Given the description of an element on the screen output the (x, y) to click on. 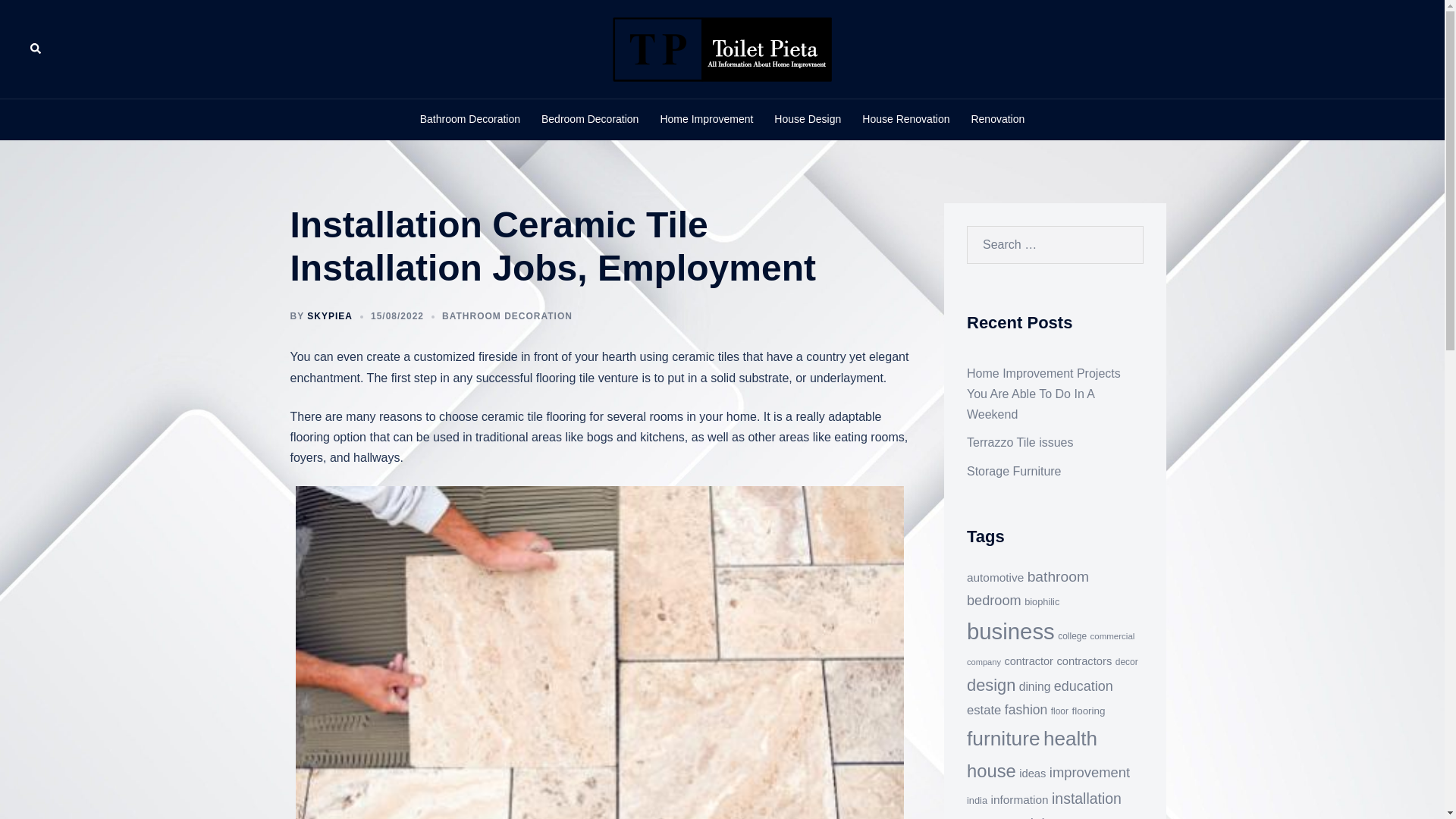
TP (721, 47)
Storage Furniture (1013, 471)
Search (36, 49)
bathroom (1058, 576)
Bathroom Decoration (469, 119)
college (1072, 635)
Search (47, 18)
business (1010, 631)
Renovation (998, 119)
House Renovation (905, 119)
House Design (807, 119)
Home Improvement Projects You Are Able To Do In A Weekend (1043, 393)
Home Improvement (705, 119)
Bedroom Decoration (590, 119)
biophilic (1042, 601)
